Given the description of an element on the screen output the (x, y) to click on. 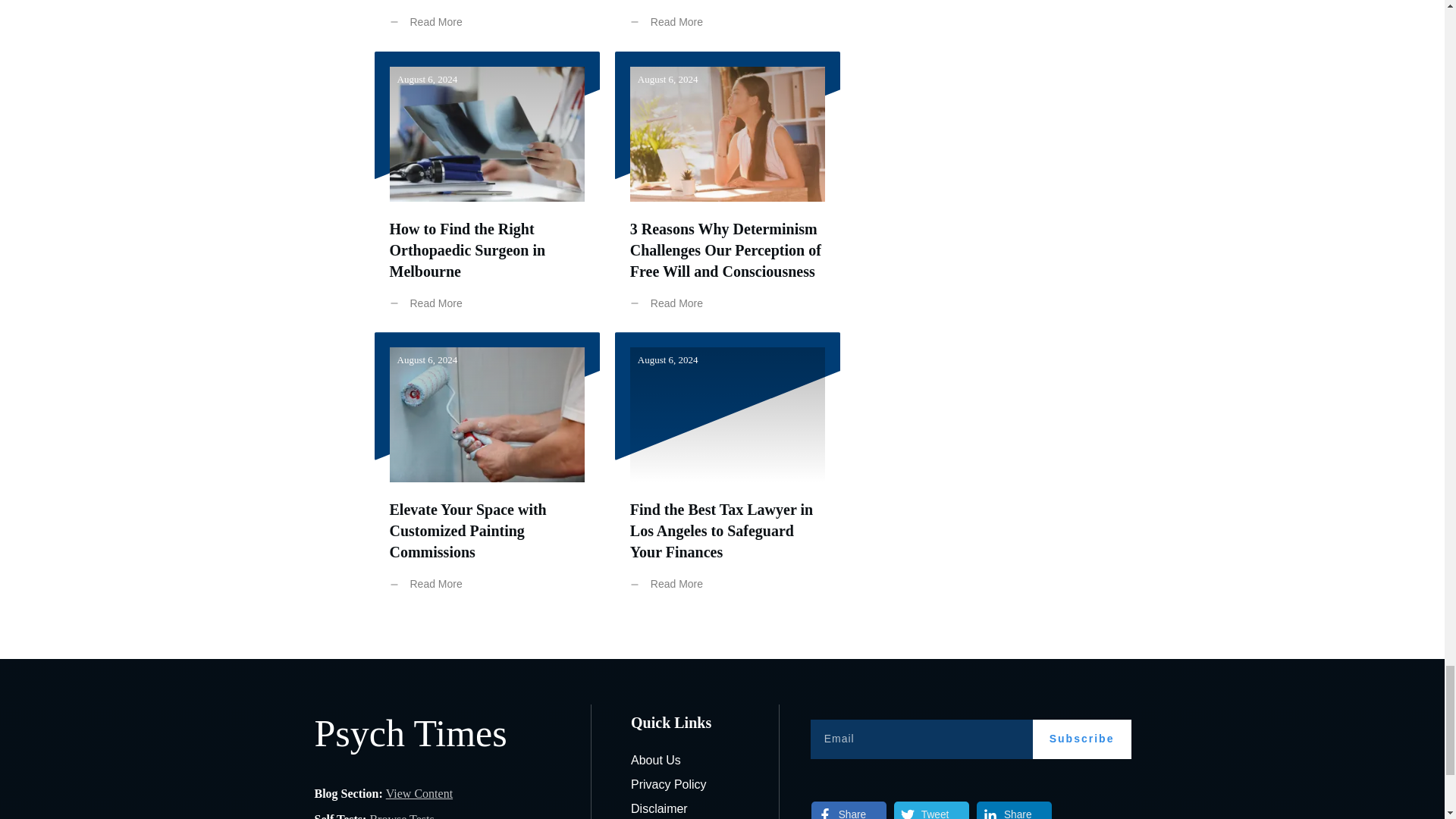
How to Find the Right Orthopaedic Surgeon in Melbourne (468, 250)
Elevate Your Space with Customized Painting Commissions (468, 530)
